Given the description of an element on the screen output the (x, y) to click on. 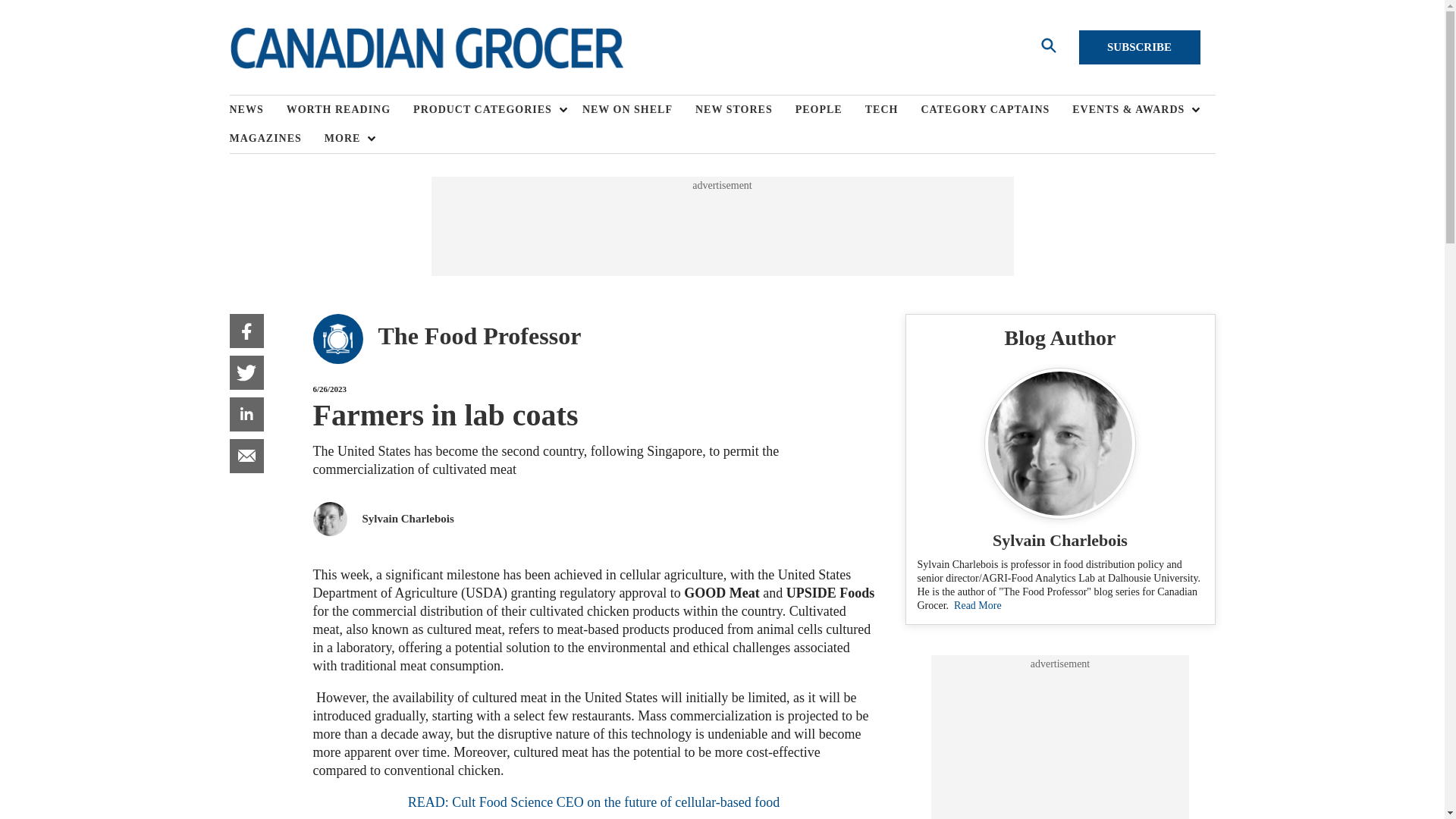
twitter (245, 372)
MAGAZINES (275, 138)
Sylvain Charlebois (408, 518)
NEW STORES (744, 109)
PEOPLE (829, 109)
email (245, 455)
3rd party ad content (721, 226)
WORTH READING (349, 109)
CATEGORY CAPTAINS (995, 109)
3rd party ad content (1059, 744)
